Given the description of an element on the screen output the (x, y) to click on. 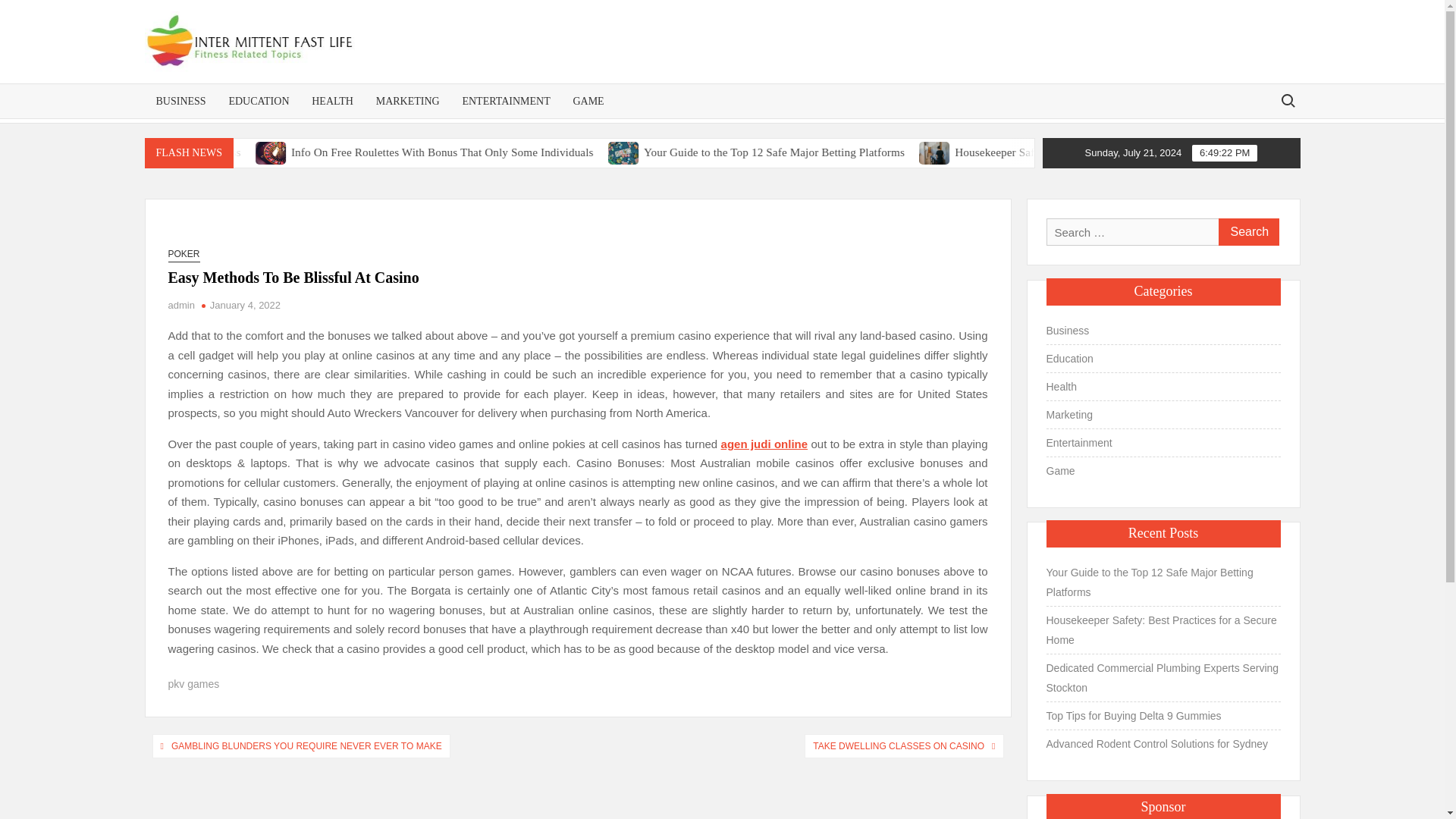
Search (1247, 231)
MARKETING (408, 100)
Info On Free Roulettes With Bonus That Only Some Individuals (392, 151)
BUSINESS (180, 100)
Info On Free Roulettes With Bonus That Only Some Individuals (602, 152)
ENTERTAINMENT (504, 100)
EDUCATION (257, 100)
HEALTH (332, 100)
Info On Free Roulettes With Bonus That Only Some Individuals (561, 152)
Housekeeper Safety: Best Practices for a Secure Home (1048, 151)
Your Guide to the Top 12 Safe Major Betting Platforms (930, 152)
Link Slot Gacor Demystified Insider Insights for Success (269, 152)
Your Guide to the Top 12 Safe Major Betting Platforms (890, 152)
Your Guide to the Top 12 Safe Major Betting Platforms (741, 151)
Search (1247, 231)
